Given the description of an element on the screen output the (x, y) to click on. 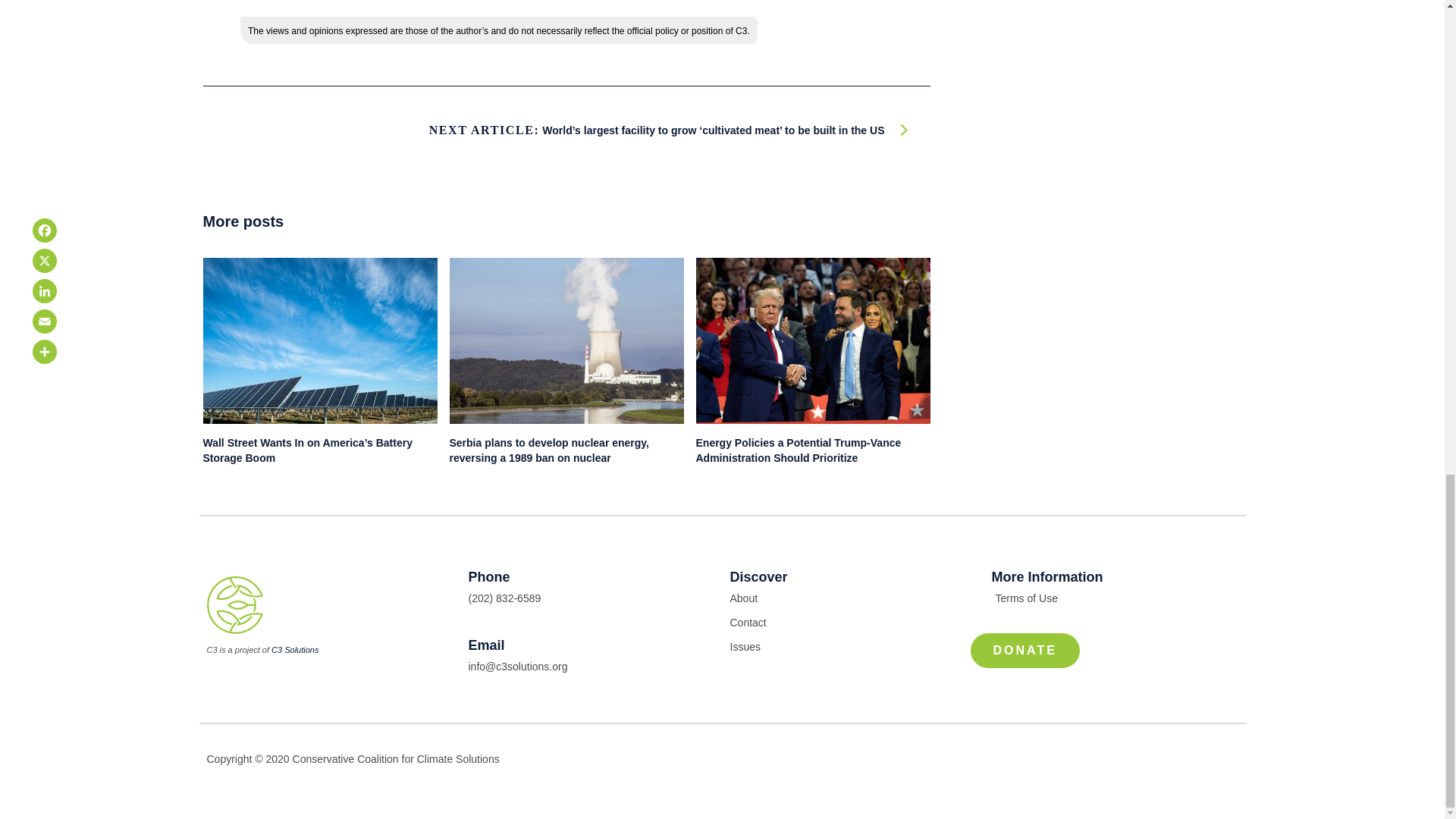
About (852, 597)
Terms of Use (1115, 597)
Issues (852, 646)
DONATE (1025, 650)
Contact (852, 622)
C3 Solutions (293, 649)
